Given the description of an element on the screen output the (x, y) to click on. 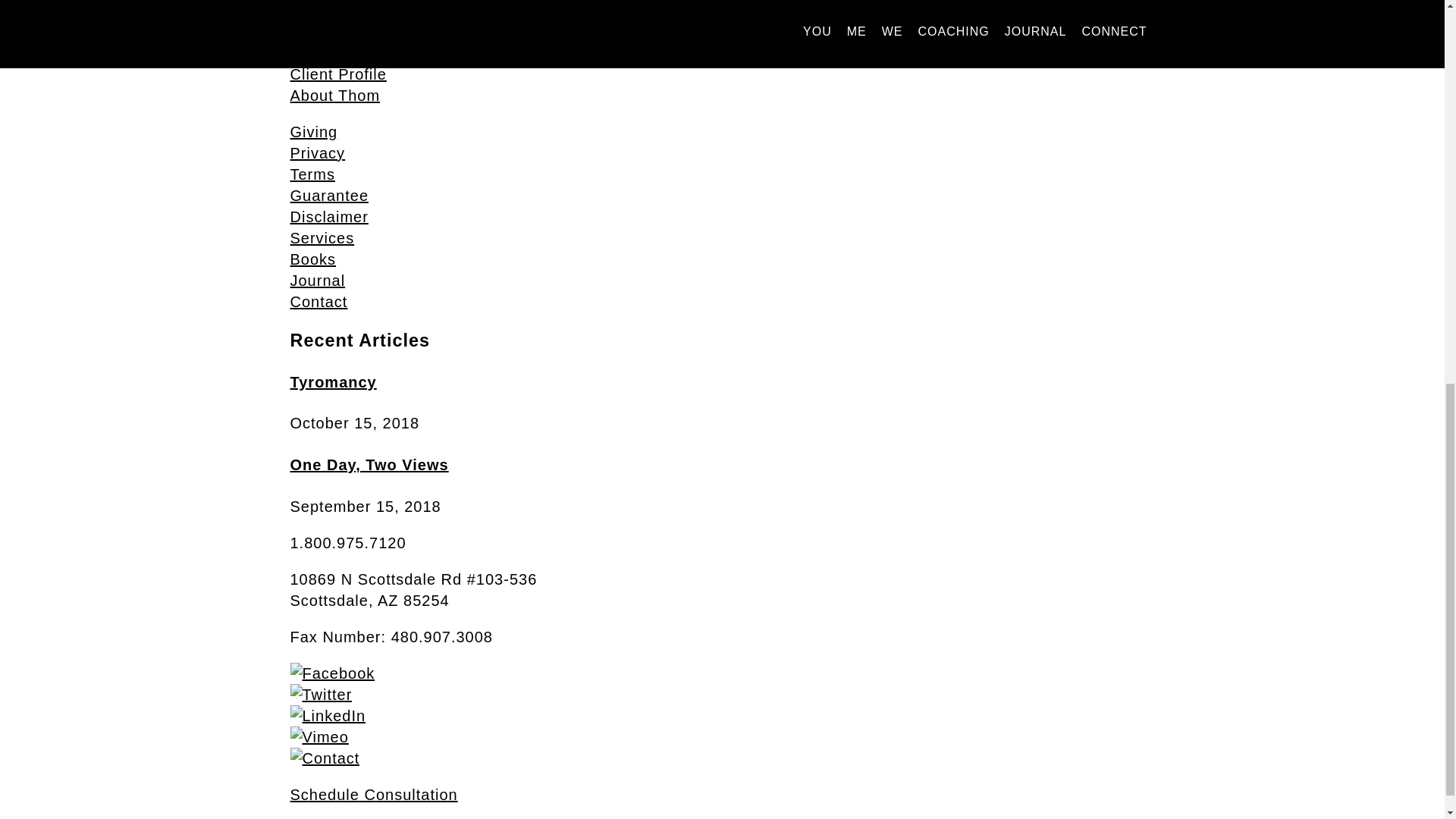
Giving (313, 131)
Journal (317, 280)
One Day, Two Views (368, 464)
Tyromancy (332, 381)
Contact (318, 301)
Philosophy (330, 31)
Client Profile (337, 74)
Guarantee (328, 195)
Disclaimer (328, 216)
Privacy (317, 152)
Mastermind (332, 10)
Terms (311, 174)
About Thom (334, 95)
Methodology (337, 53)
Books (312, 258)
